Given the description of an element on the screen output the (x, y) to click on. 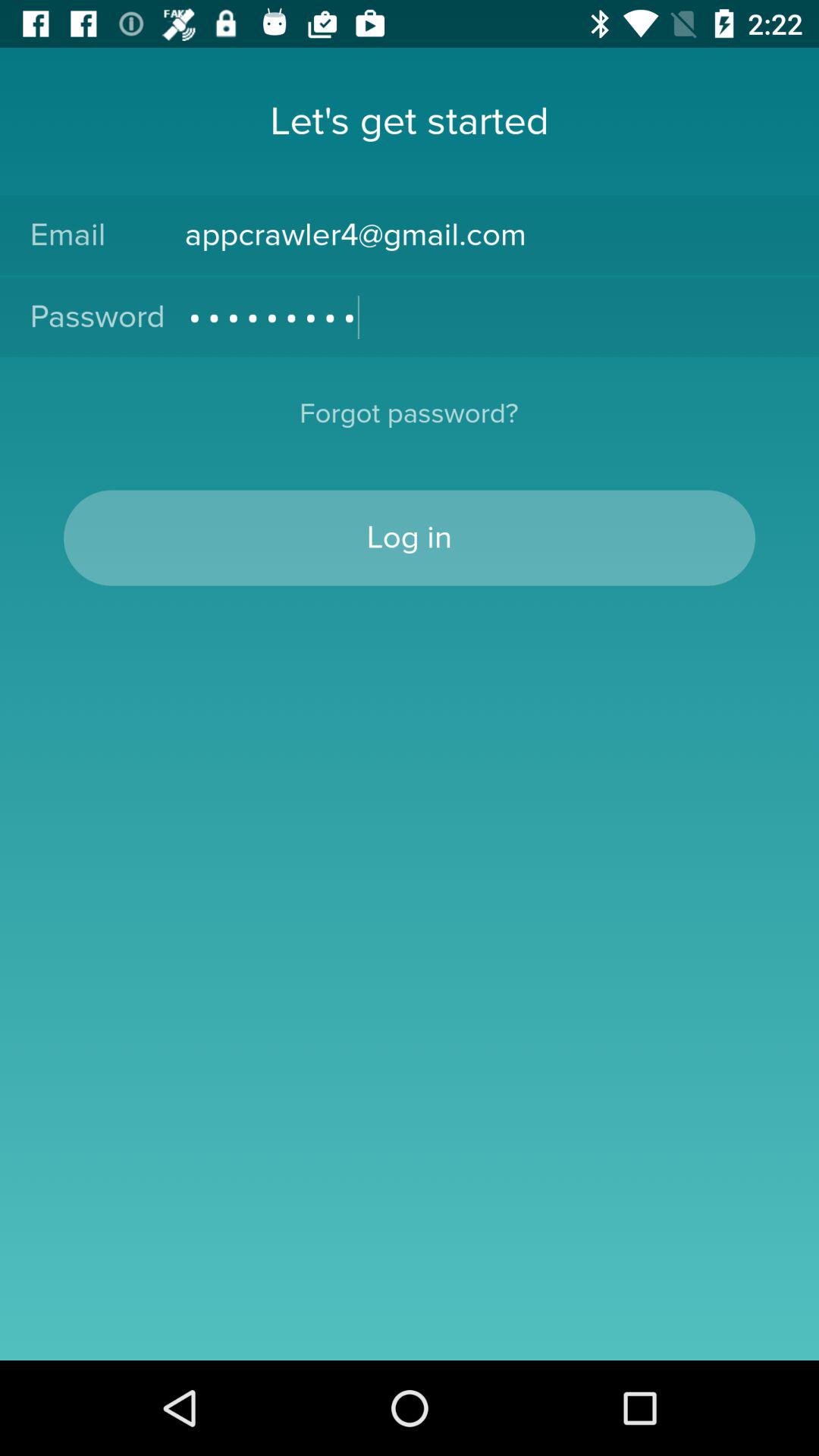
press log in (409, 537)
